Given the description of an element on the screen output the (x, y) to click on. 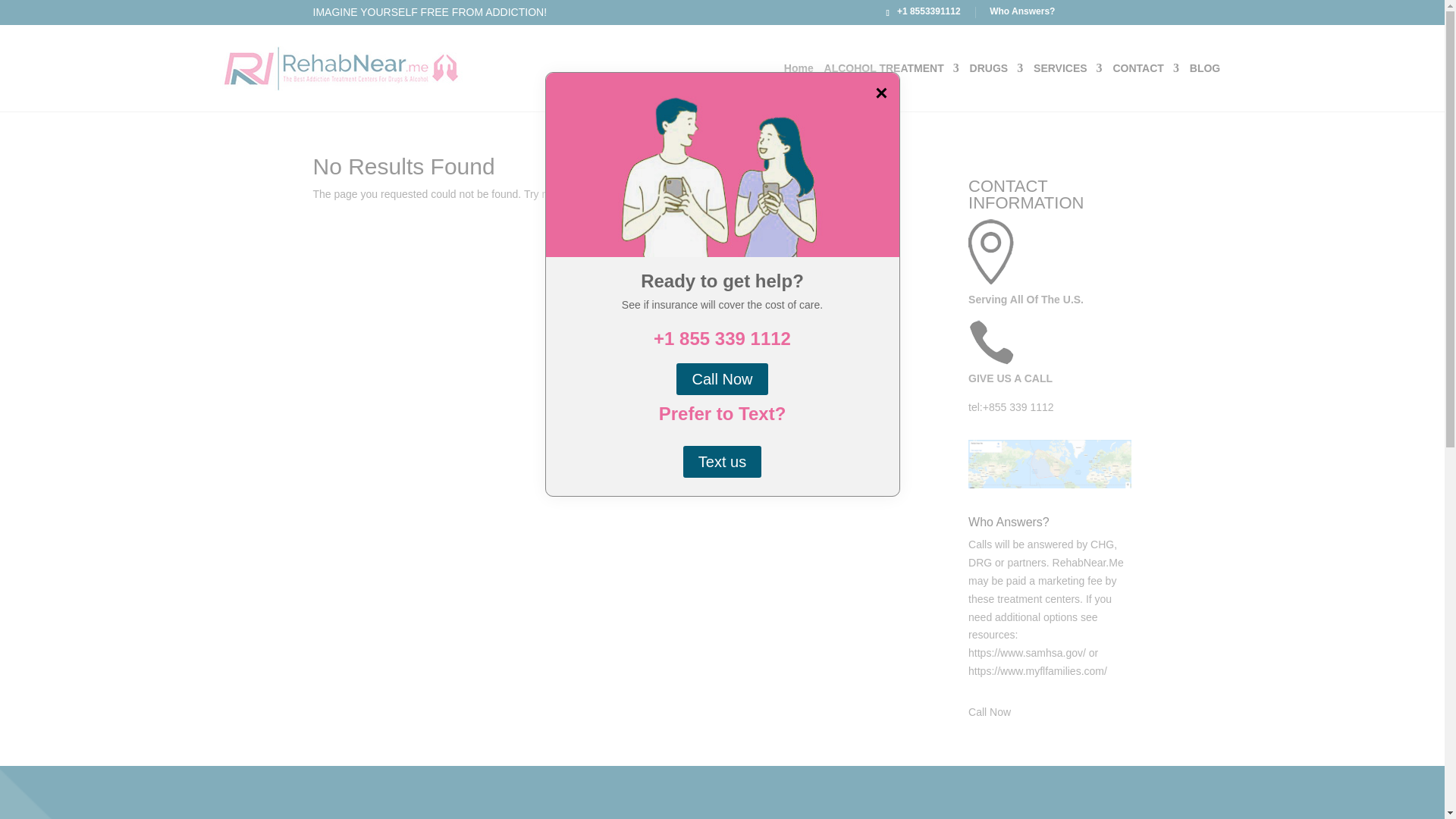
ALCOHOL TREATMENT (891, 87)
Home (798, 87)
CONTACT (1146, 87)
DRUGS (996, 87)
SERVICES (1067, 87)
